Given the description of an element on the screen output the (x, y) to click on. 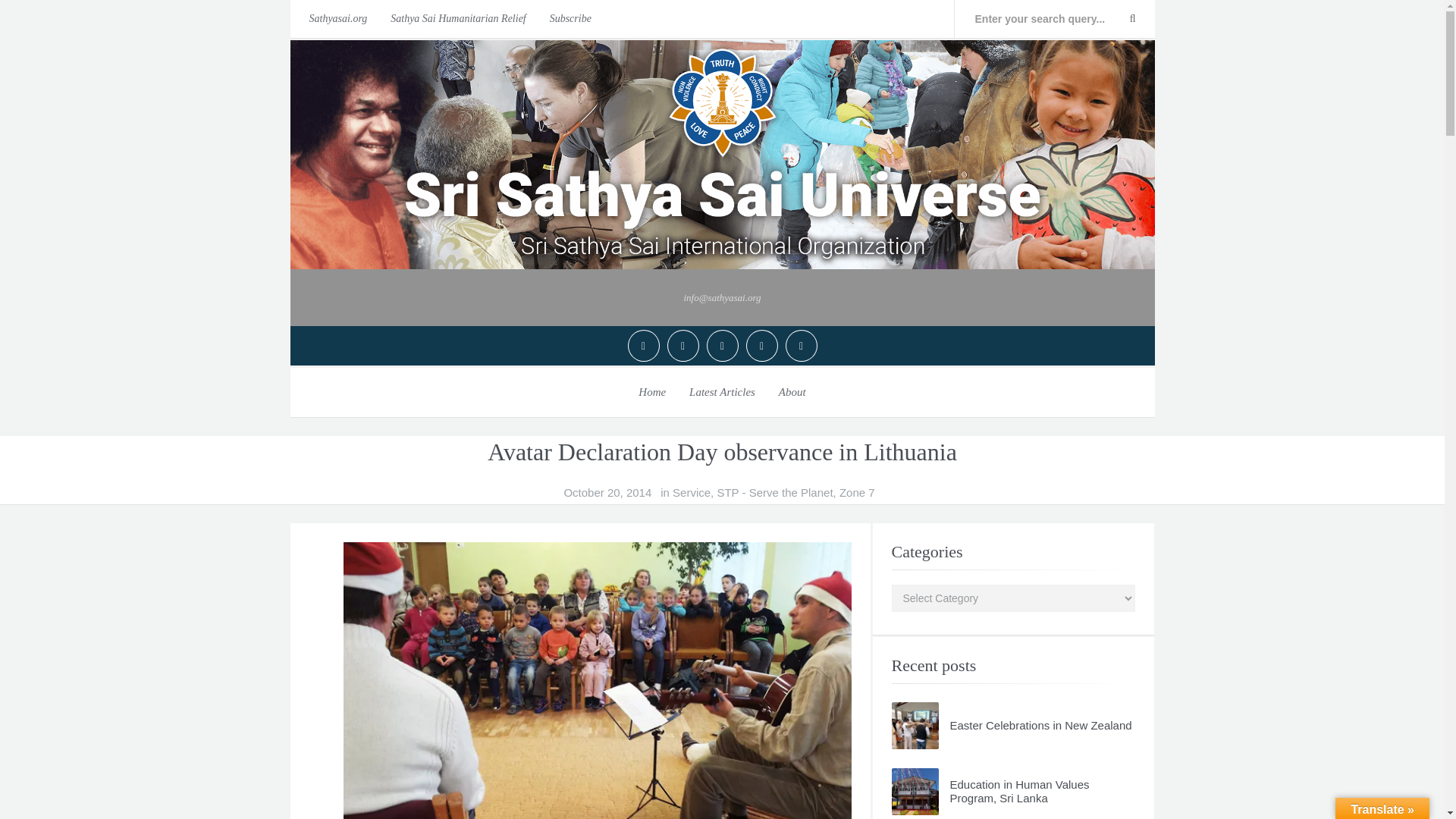
Service (691, 492)
STP - Serve the Planet (774, 492)
Sathya Sai Humanitarian Relief (457, 18)
About (791, 391)
Zone 7 (857, 492)
Sathyasai.org (333, 18)
Subscribe (570, 18)
Subscribe to emails (570, 18)
Latest Articles (722, 391)
Home (652, 391)
